Given the description of an element on the screen output the (x, y) to click on. 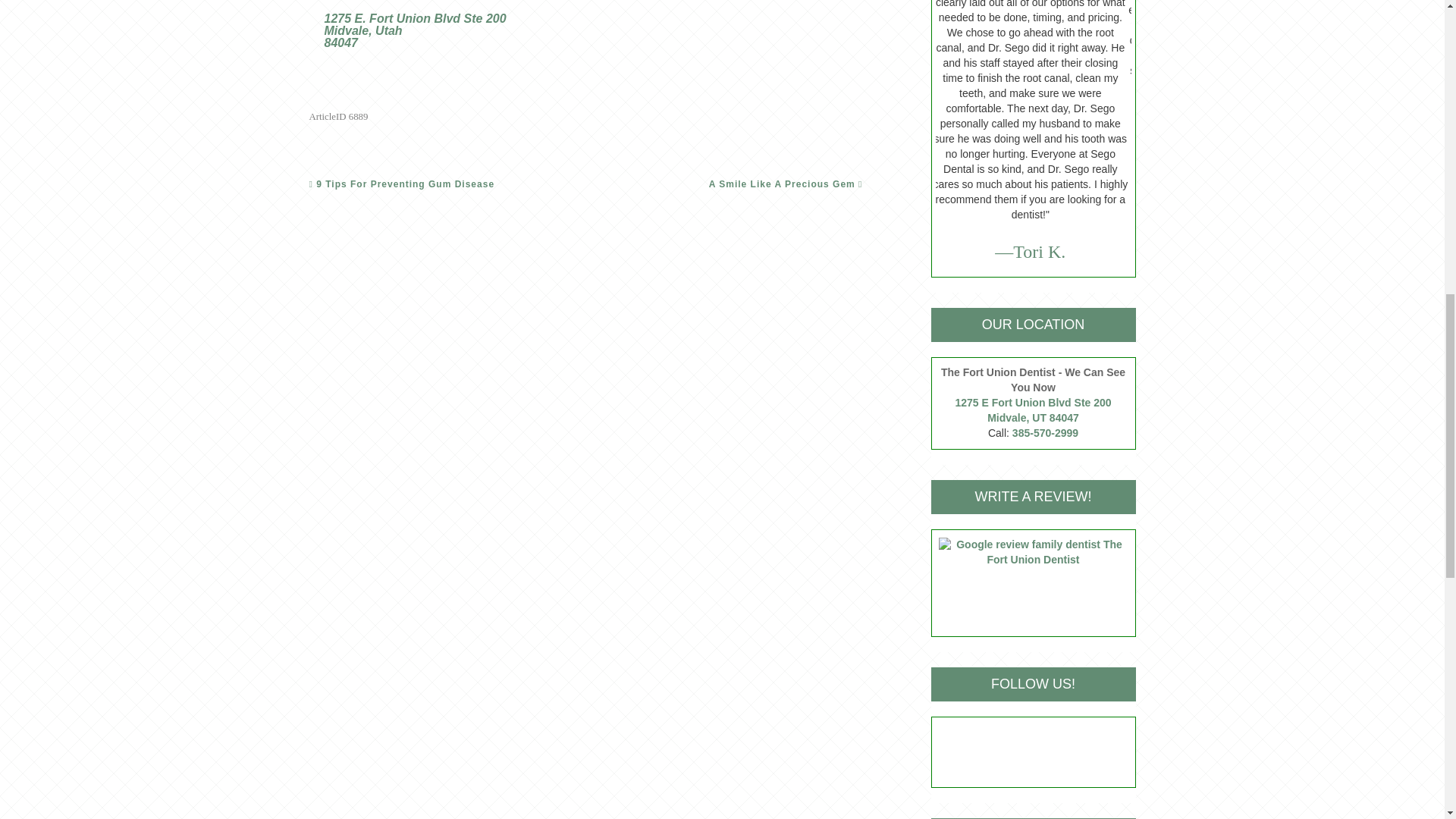
Follow Us on Instagram (1045, 752)
Follow Us on Facebook (1019, 752)
